Given the description of an element on the screen output the (x, y) to click on. 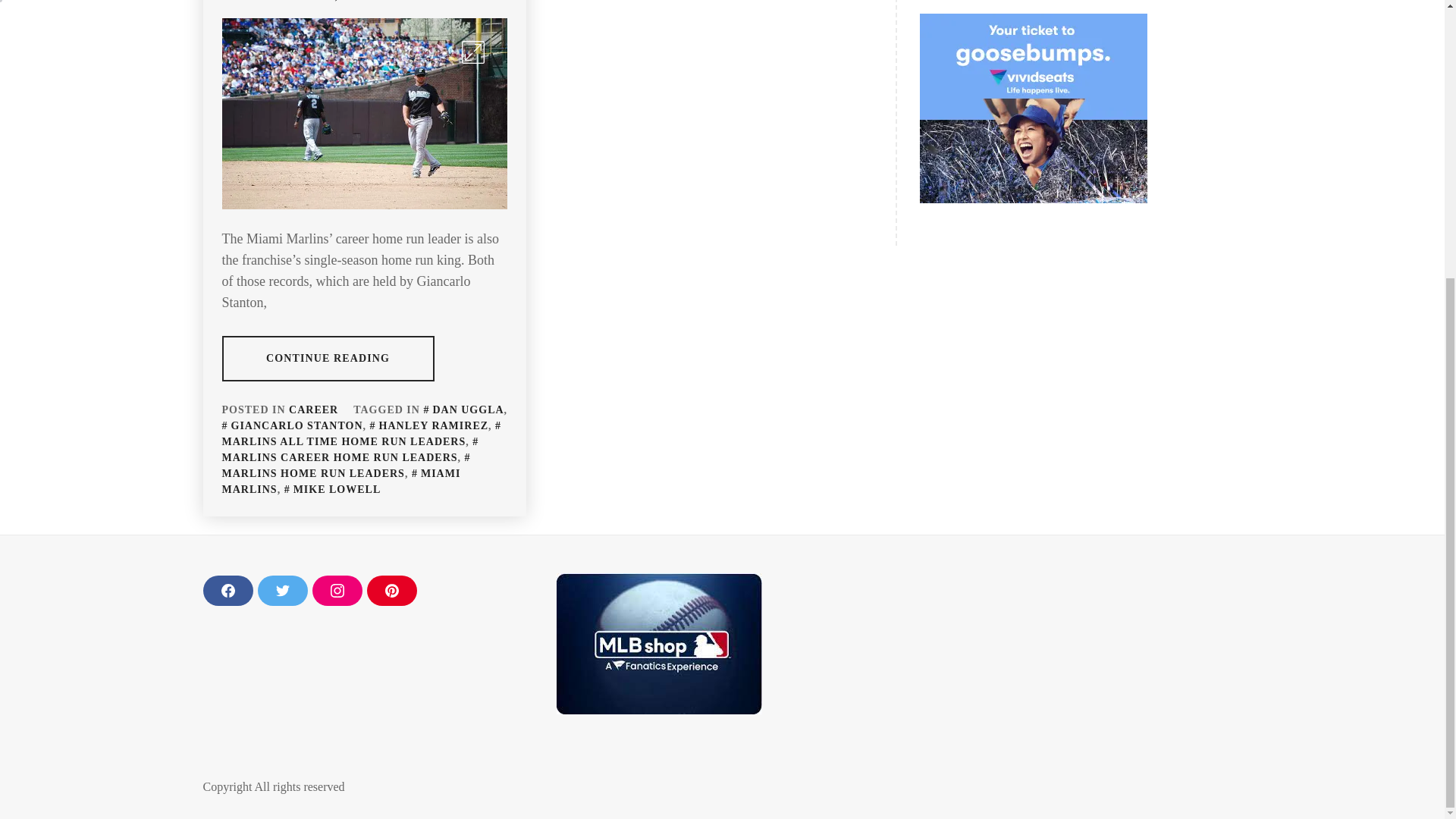
MARLINS CAREER HOME RUN LEADERS (351, 449)
Pinterest (391, 590)
DAN UGGLA (463, 409)
MARLINS ALL TIME HOME RUN LEADERS (362, 433)
Twitter (282, 590)
CONTINUE READING (327, 358)
Search (797, 9)
CAREER (312, 409)
MIKE LOWELL (332, 489)
MARLINS HOME RUN LEADERS (347, 465)
MATT MUSICO (446, 0)
MAY 25, 2022 (330, 0)
MIAMI MARLINS (340, 481)
Instagram (337, 590)
Twitter (282, 590)
